Given the description of an element on the screen output the (x, y) to click on. 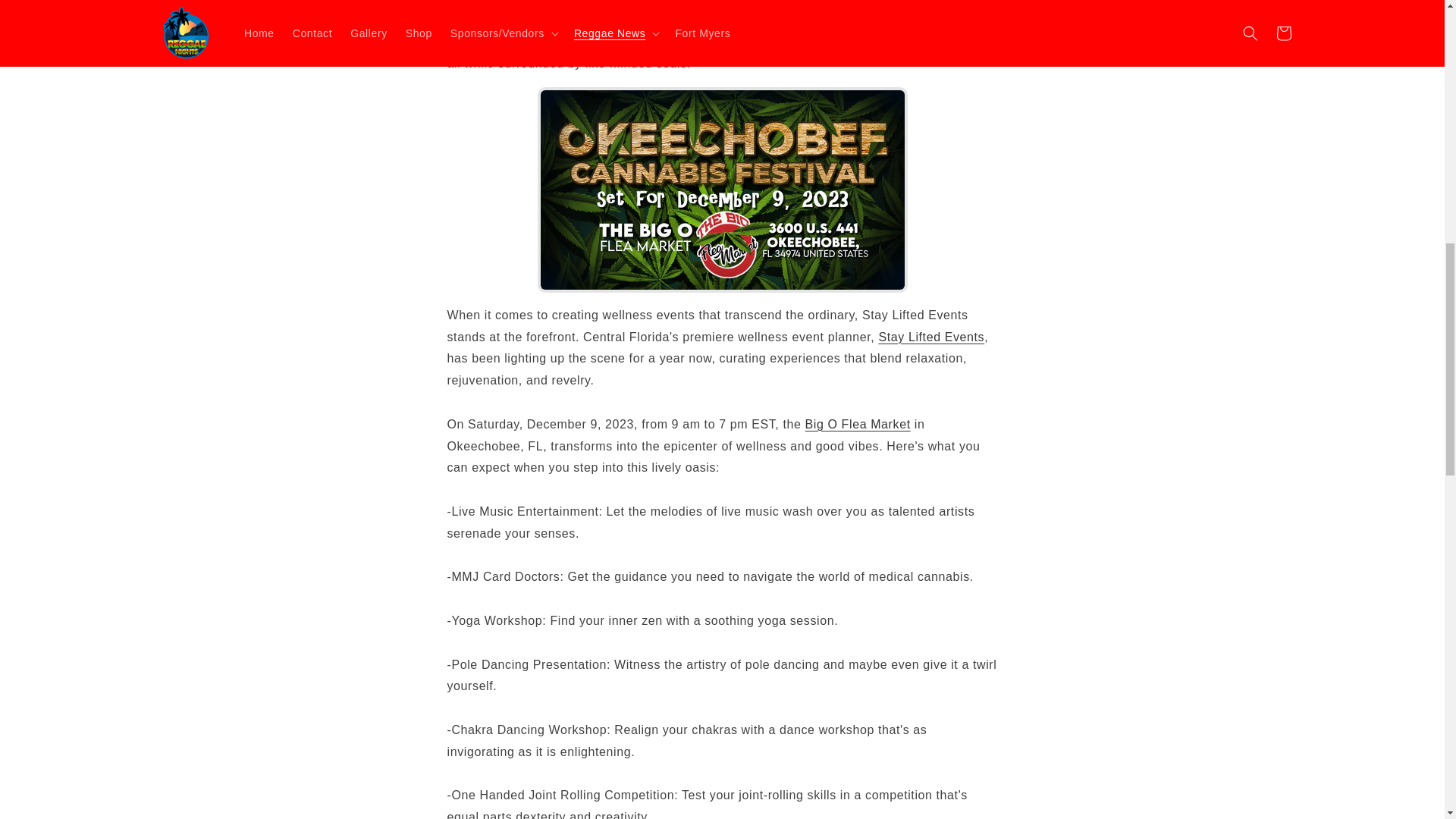
Stay Lifted Events Website (930, 336)
Eventbrite Page (750, 2)
Big O Flea Market Info Page (858, 423)
Okeechobee Cannabis Festival (721, 189)
Stay Lifted Events Website (718, 13)
